Given the description of an element on the screen output the (x, y) to click on. 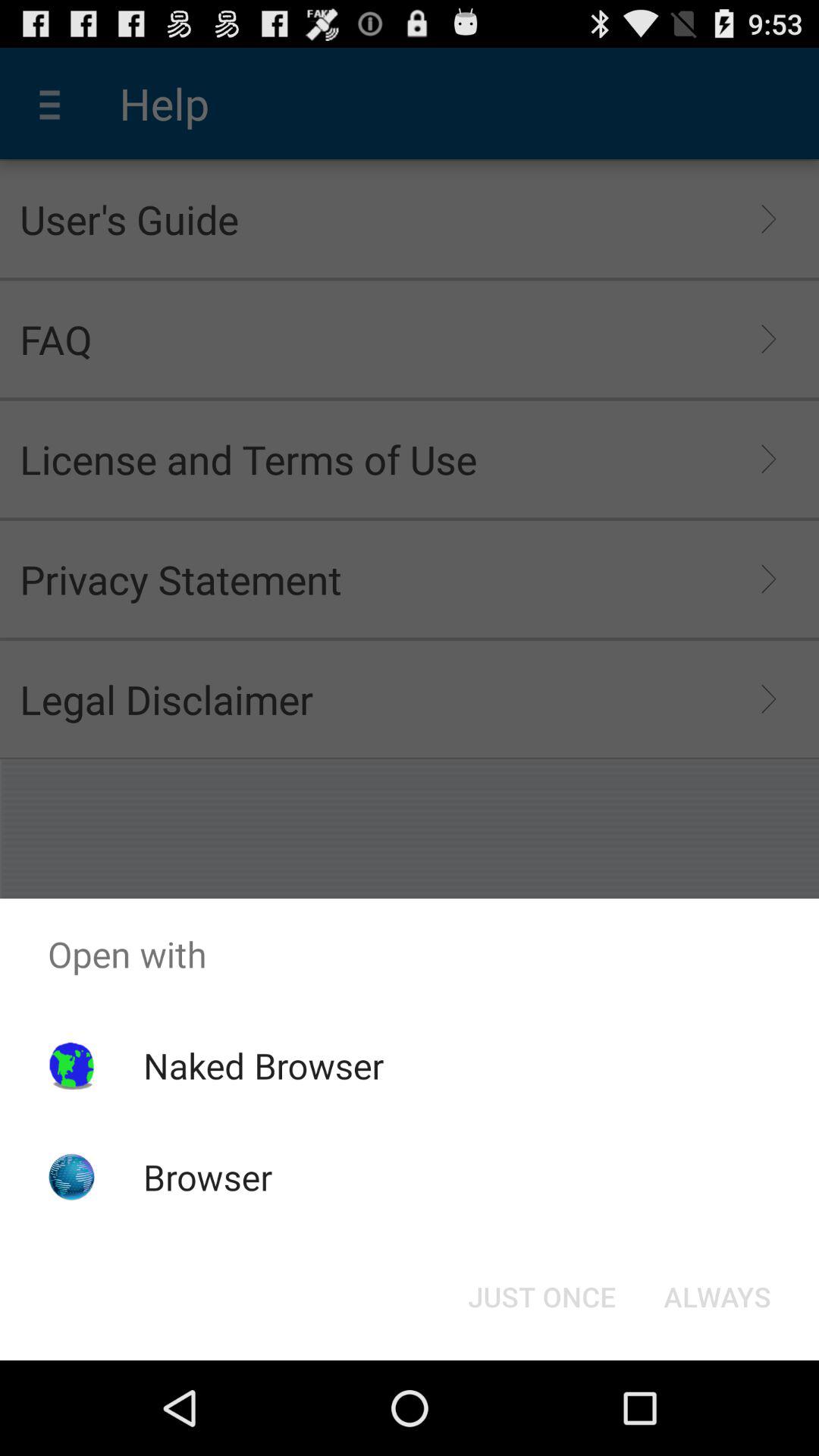
choose the just once button (541, 1296)
